Given the description of an element on the screen output the (x, y) to click on. 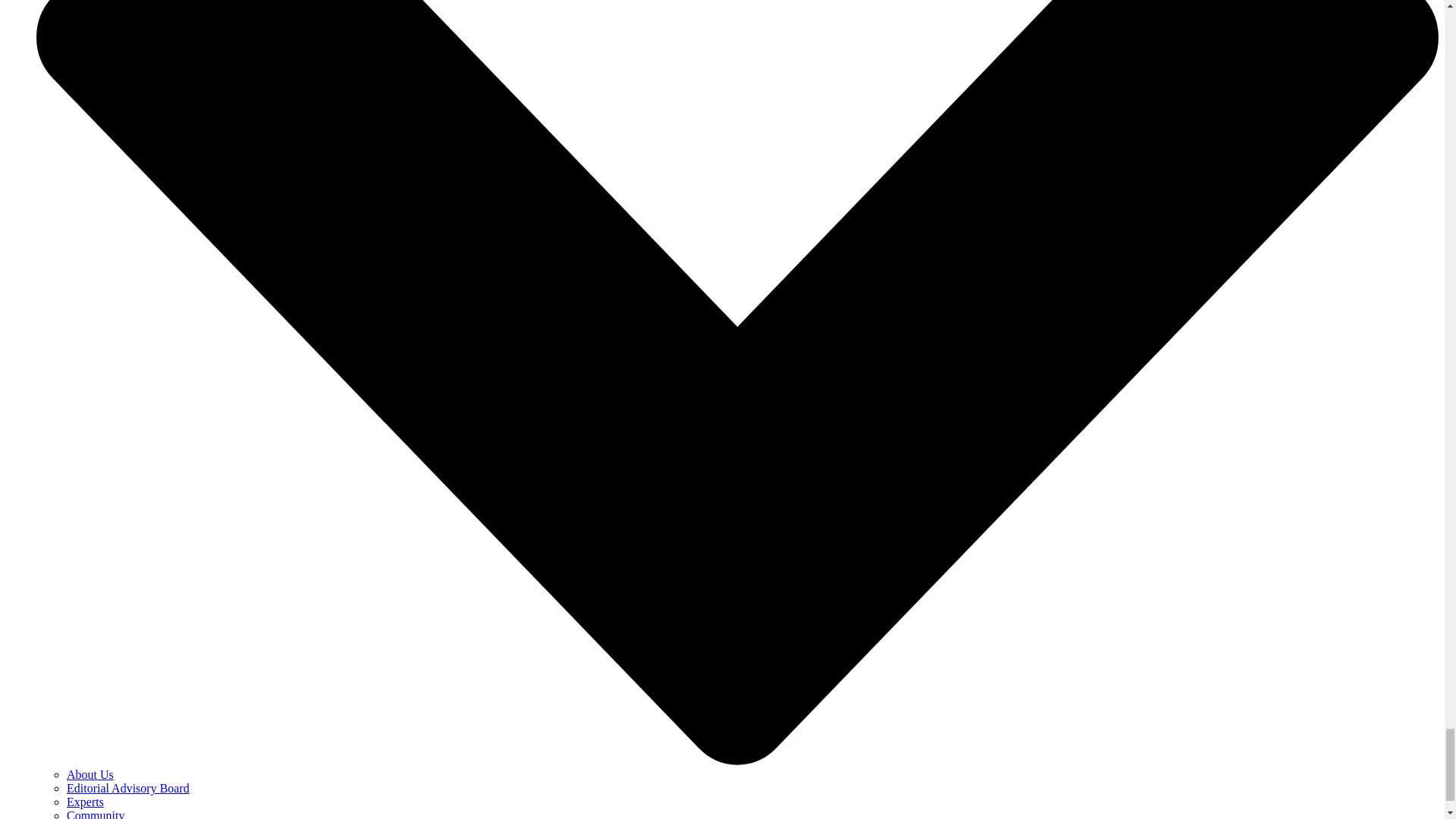
Community (94, 814)
Editorial Advisory Board (127, 788)
About Us (89, 774)
Experts (84, 801)
